Given the description of an element on the screen output the (x, y) to click on. 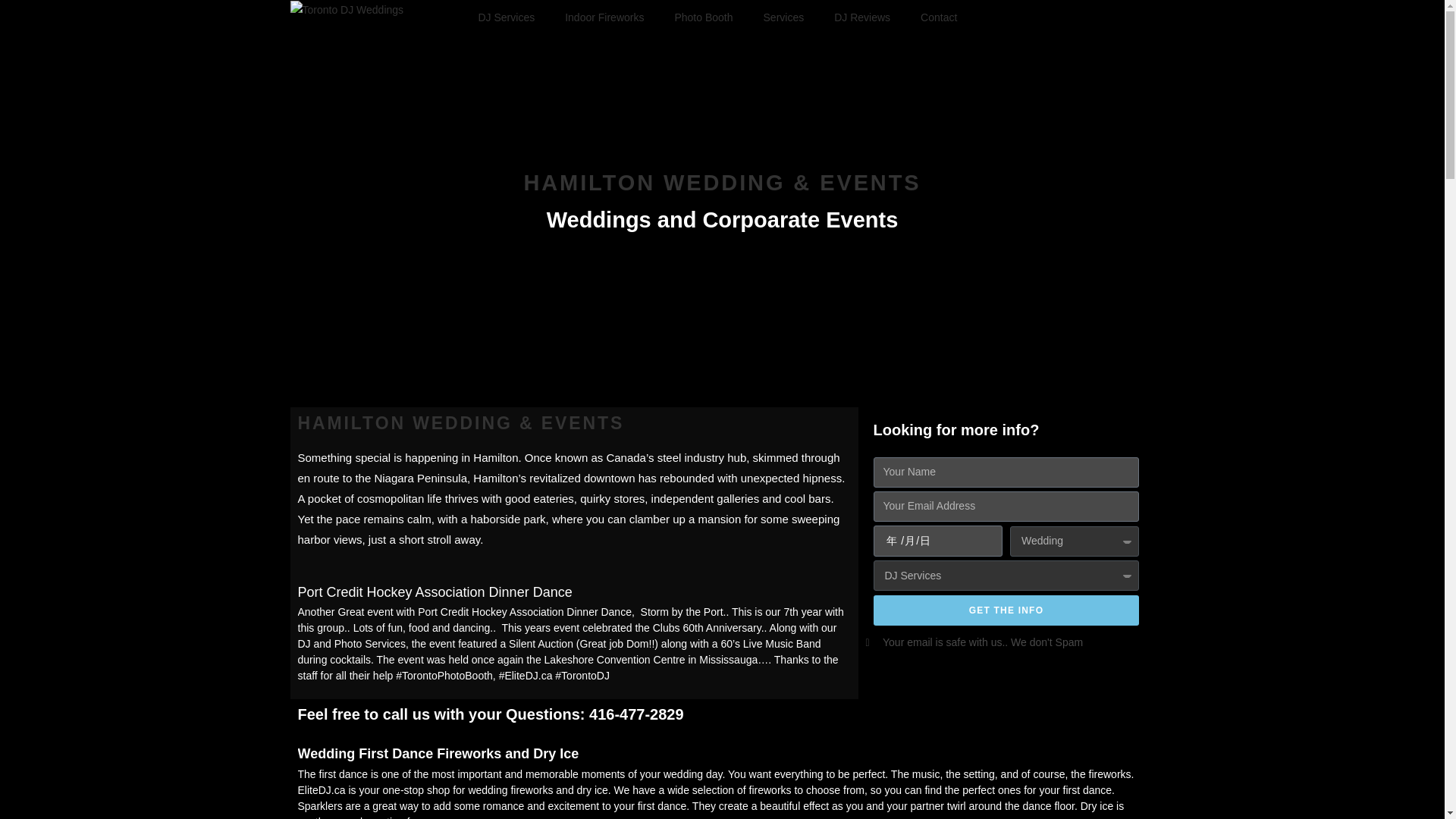
Services (783, 17)
DJ Reviews (861, 17)
Toronto DJ Weddings (346, 9)
Contact (938, 17)
Photo Booth (703, 17)
Indoor Fireworks (604, 17)
DJ Services (506, 17)
